Given the description of an element on the screen output the (x, y) to click on. 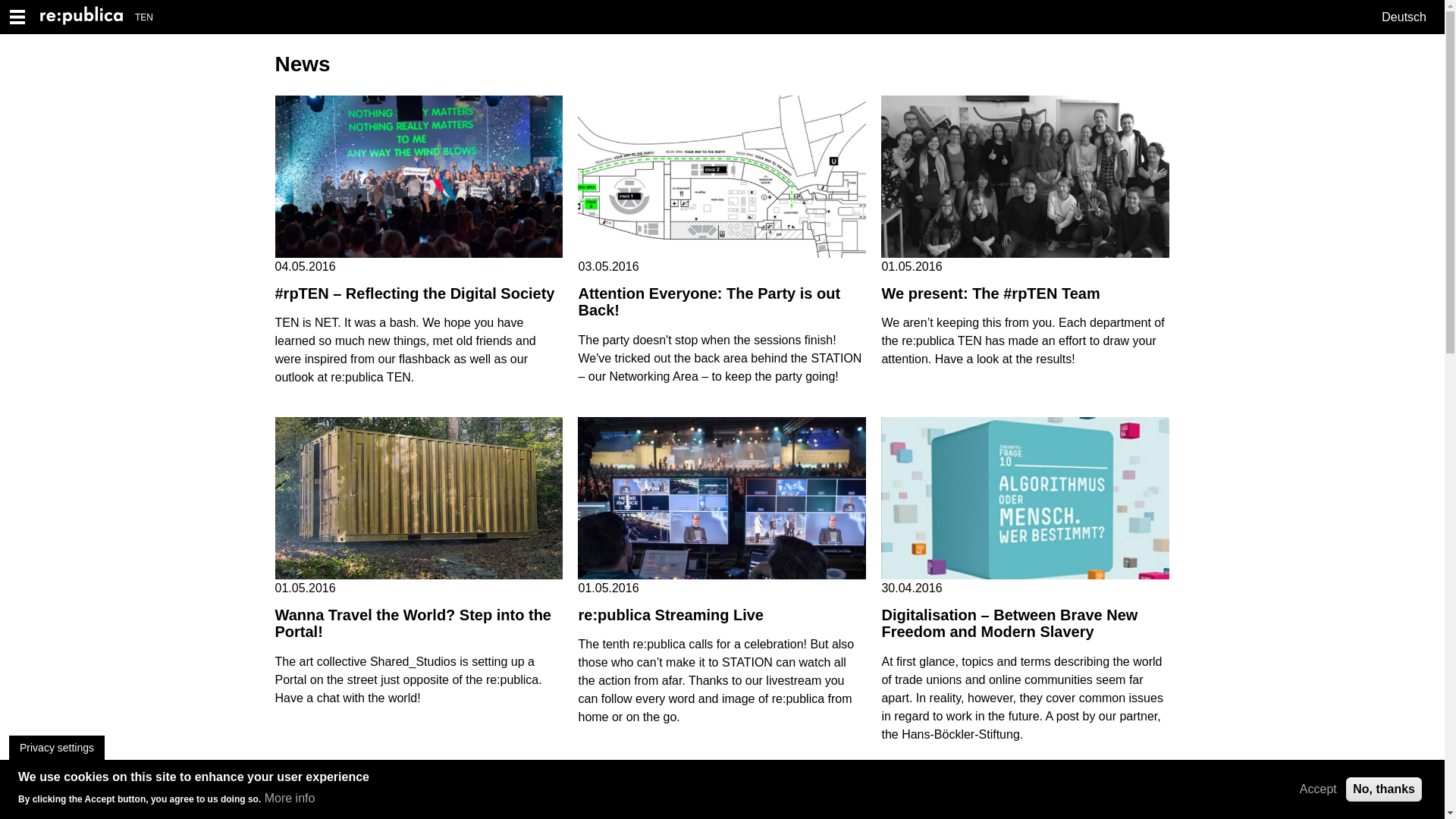
Home (87, 17)
Attention Everyone: The Party is out Back! (709, 302)
No, thanks (1383, 789)
Accept (1318, 789)
re:publica Streaming Live (670, 614)
vodafone.jpg (1024, 796)
Privacy settings (56, 747)
paragraph.jpg (418, 796)
recording.jpg (722, 497)
More info (289, 798)
Wanna Travel the World? Step into the Portal! (412, 623)
Deutsch (1403, 17)
